Given the description of an element on the screen output the (x, y) to click on. 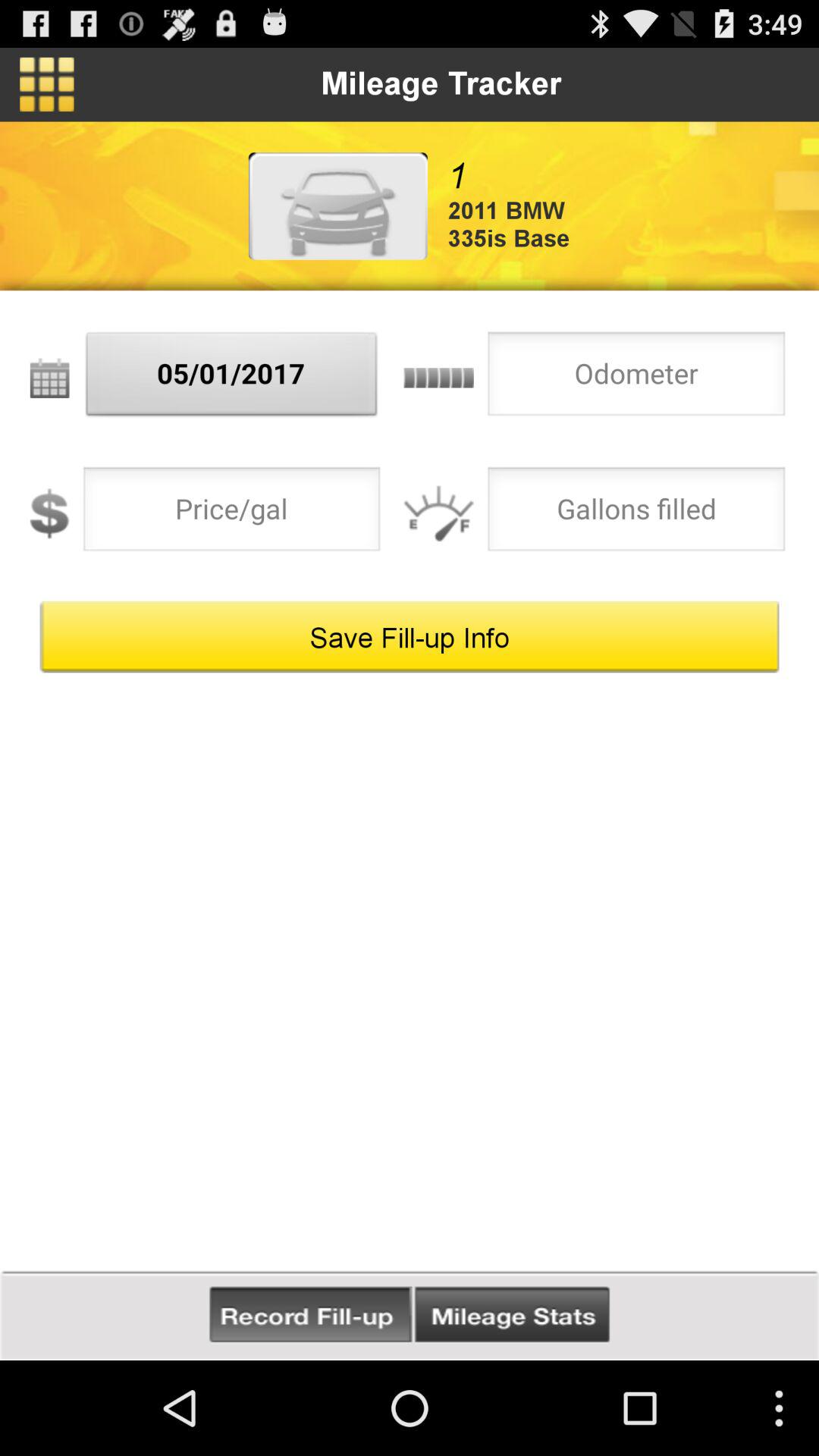
press the item to the left of the 1  icon (337, 205)
